Given the description of an element on the screen output the (x, y) to click on. 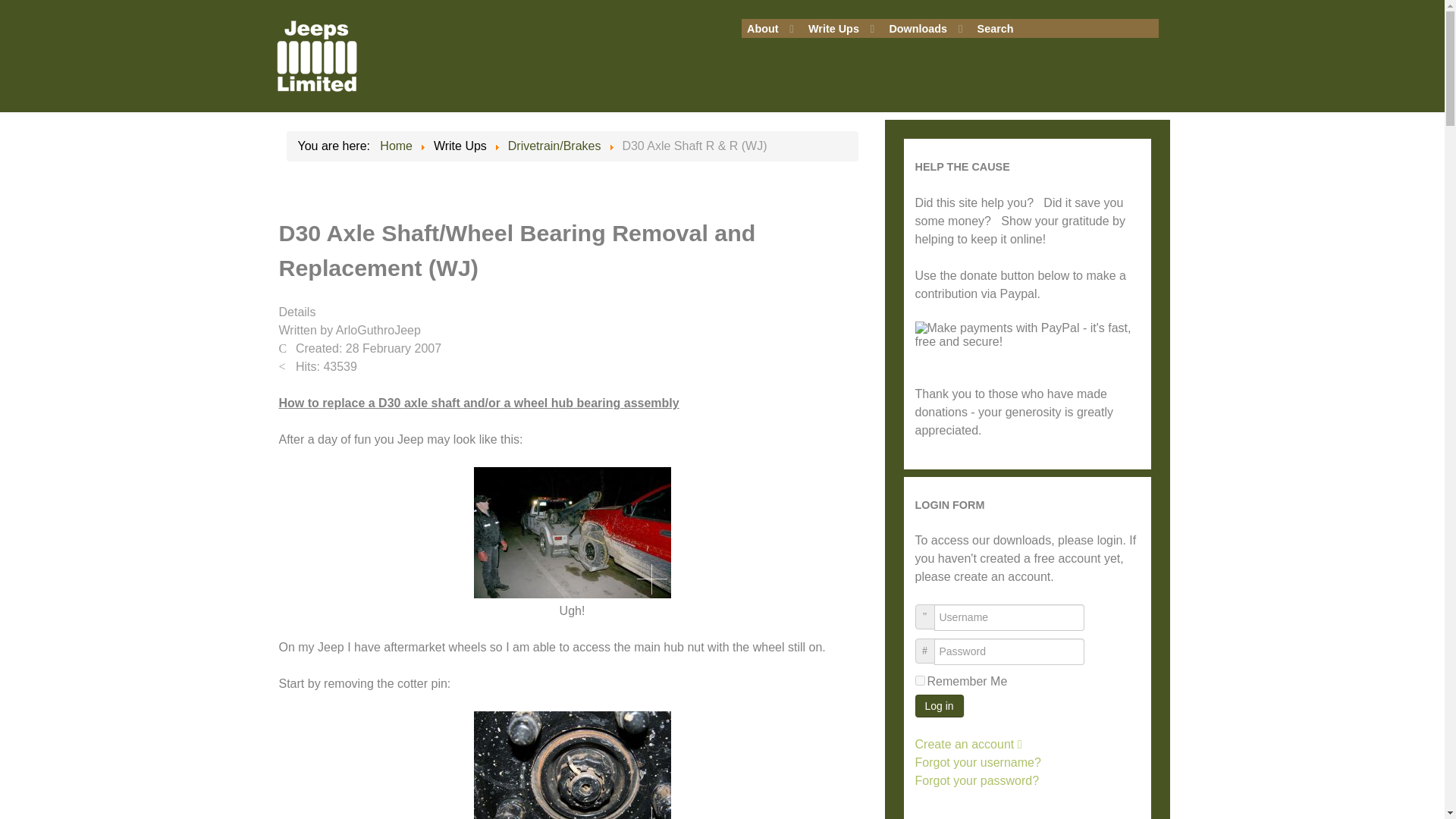
yes (919, 680)
01 (571, 532)
Callisto (316, 54)
02 (571, 765)
About (770, 28)
